Given the description of an element on the screen output the (x, y) to click on. 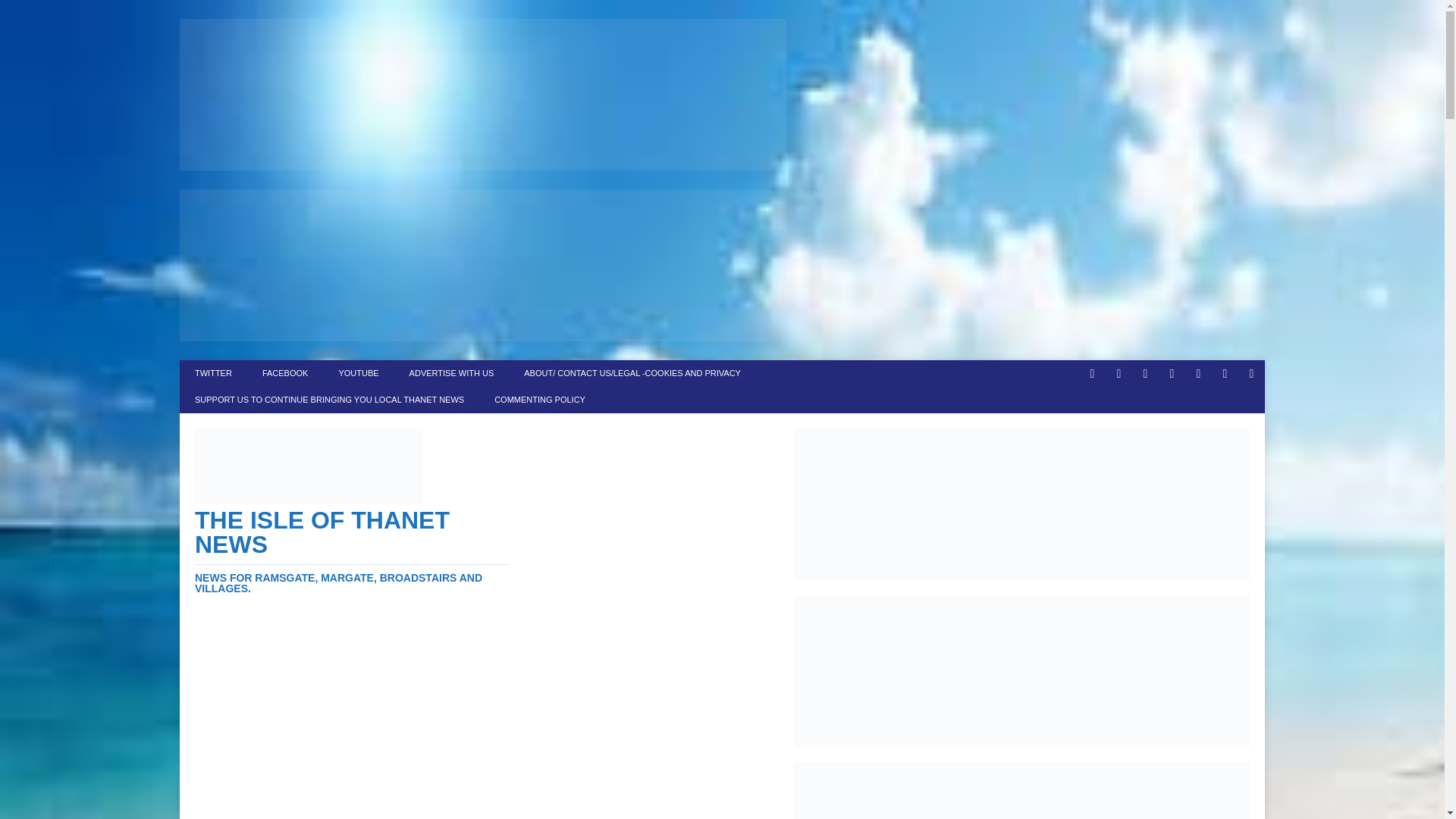
TWITTER (213, 373)
SUPPORT US TO CONTINUE BRINGING YOU LOCAL THANET NEWS (329, 399)
FACEBOOK (285, 373)
ADVERTISE WITH US (451, 373)
The Isle Of Thanet News (351, 550)
YOUTUBE (358, 373)
COMMENTING POLICY (539, 399)
